Given the description of an element on the screen output the (x, y) to click on. 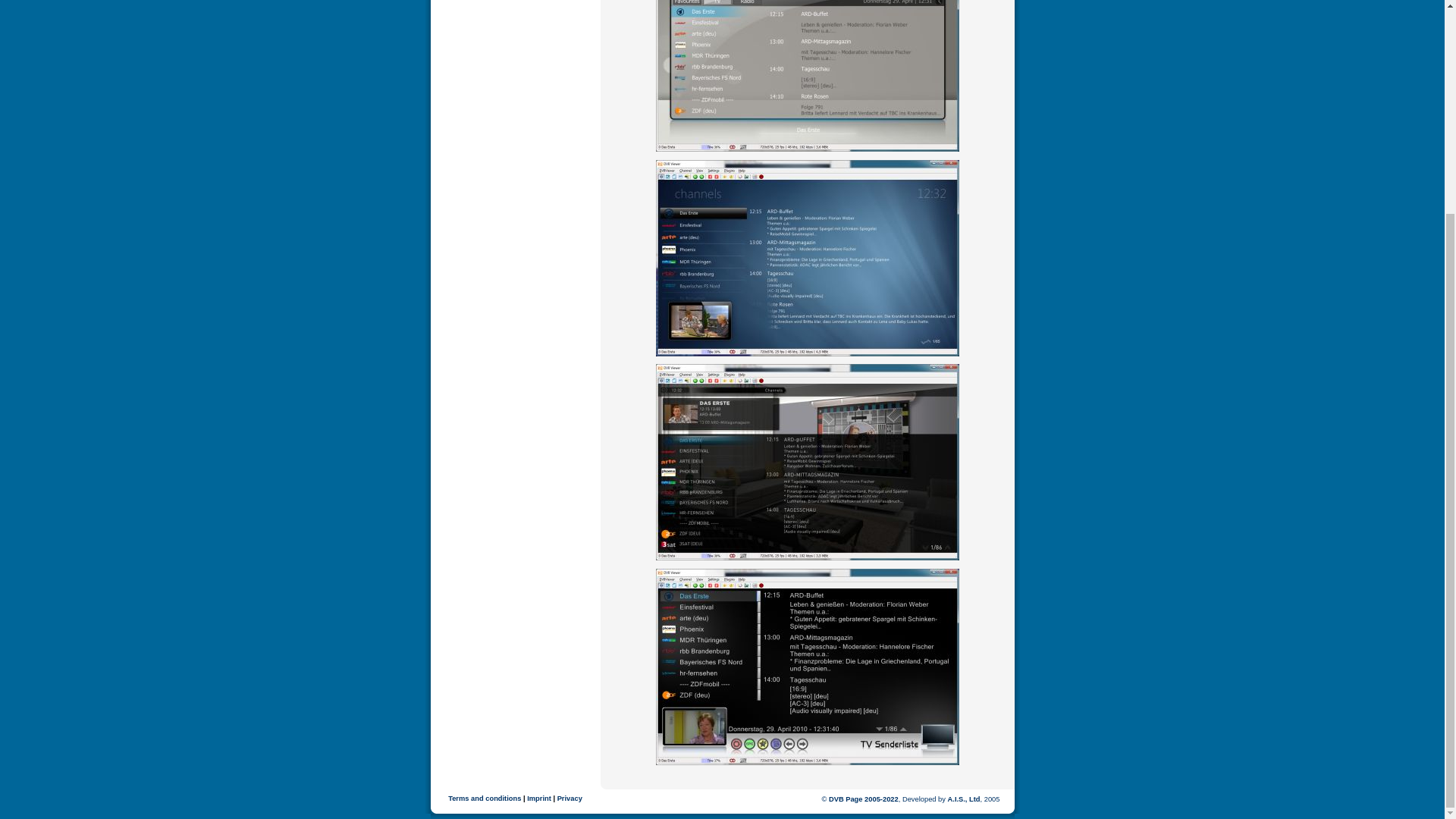
A.I.S., Ltd (963, 799)
Privacy (569, 798)
DVB Page (845, 799)
Imprint (539, 798)
Terms and conditions (484, 798)
